Given the description of an element on the screen output the (x, y) to click on. 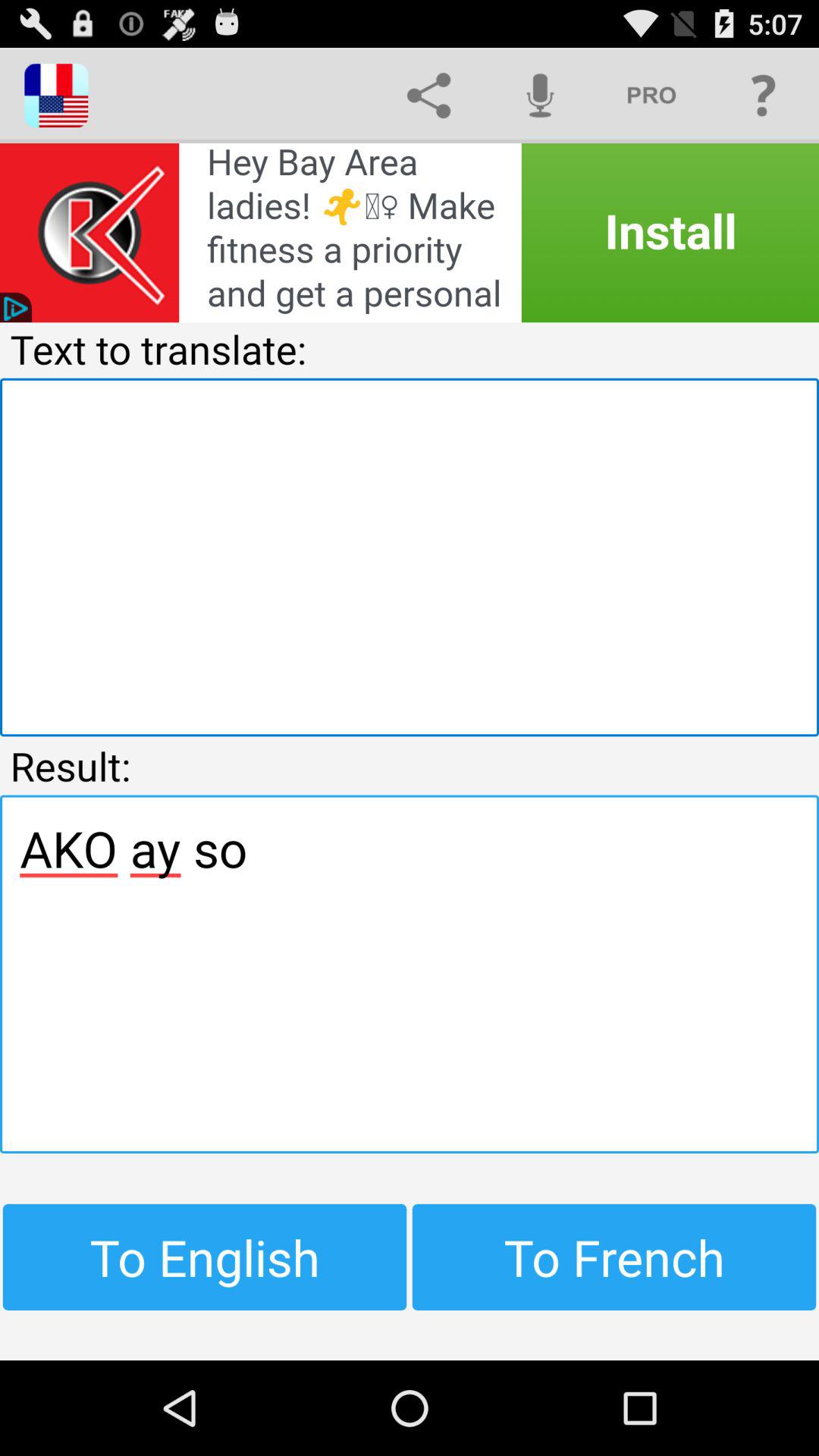
advertisement (409, 232)
